Given the description of an element on the screen output the (x, y) to click on. 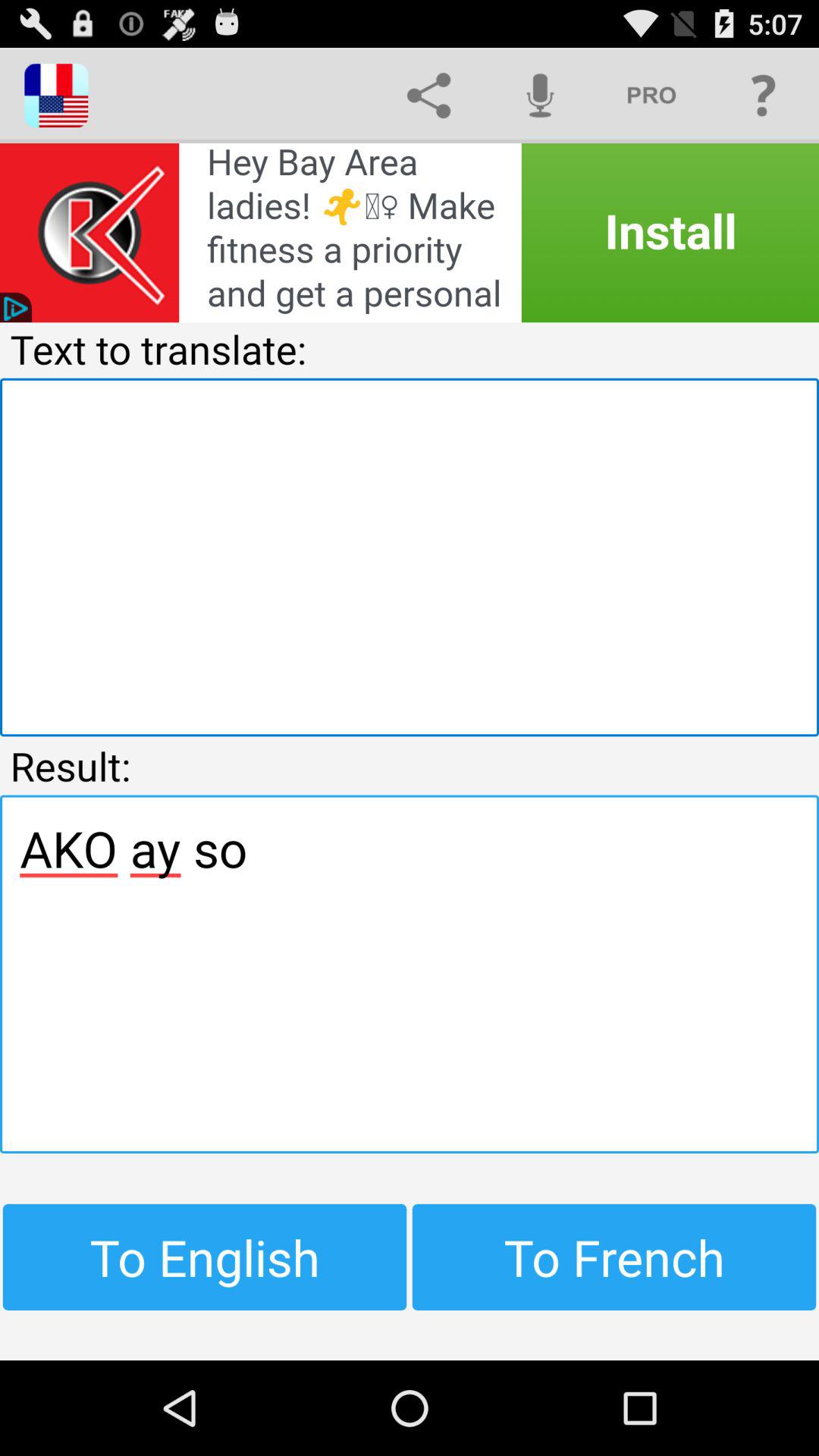
advertisement (409, 232)
